Given the description of an element on the screen output the (x, y) to click on. 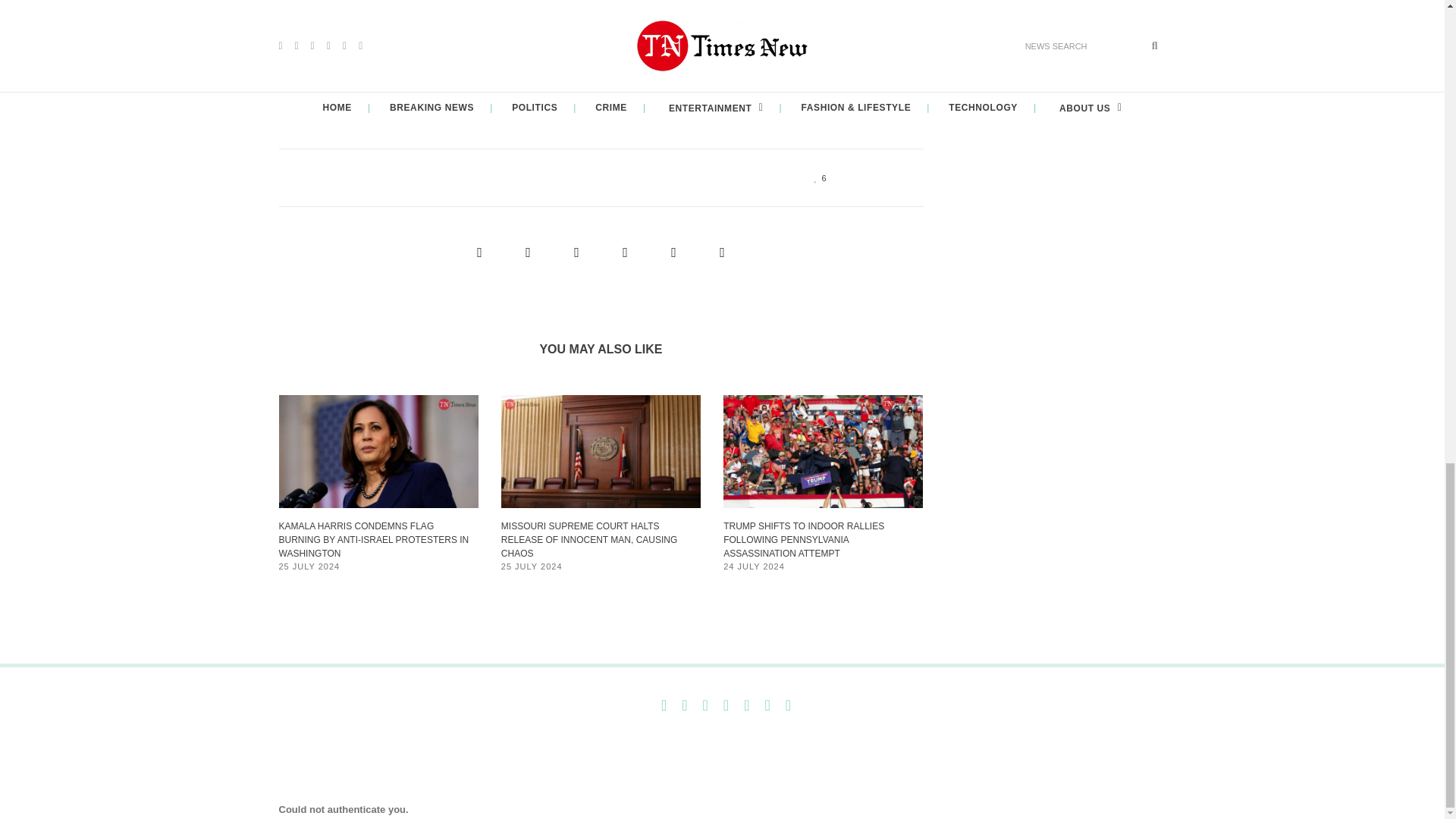
Like (816, 176)
6 (816, 176)
